Given the description of an element on the screen output the (x, y) to click on. 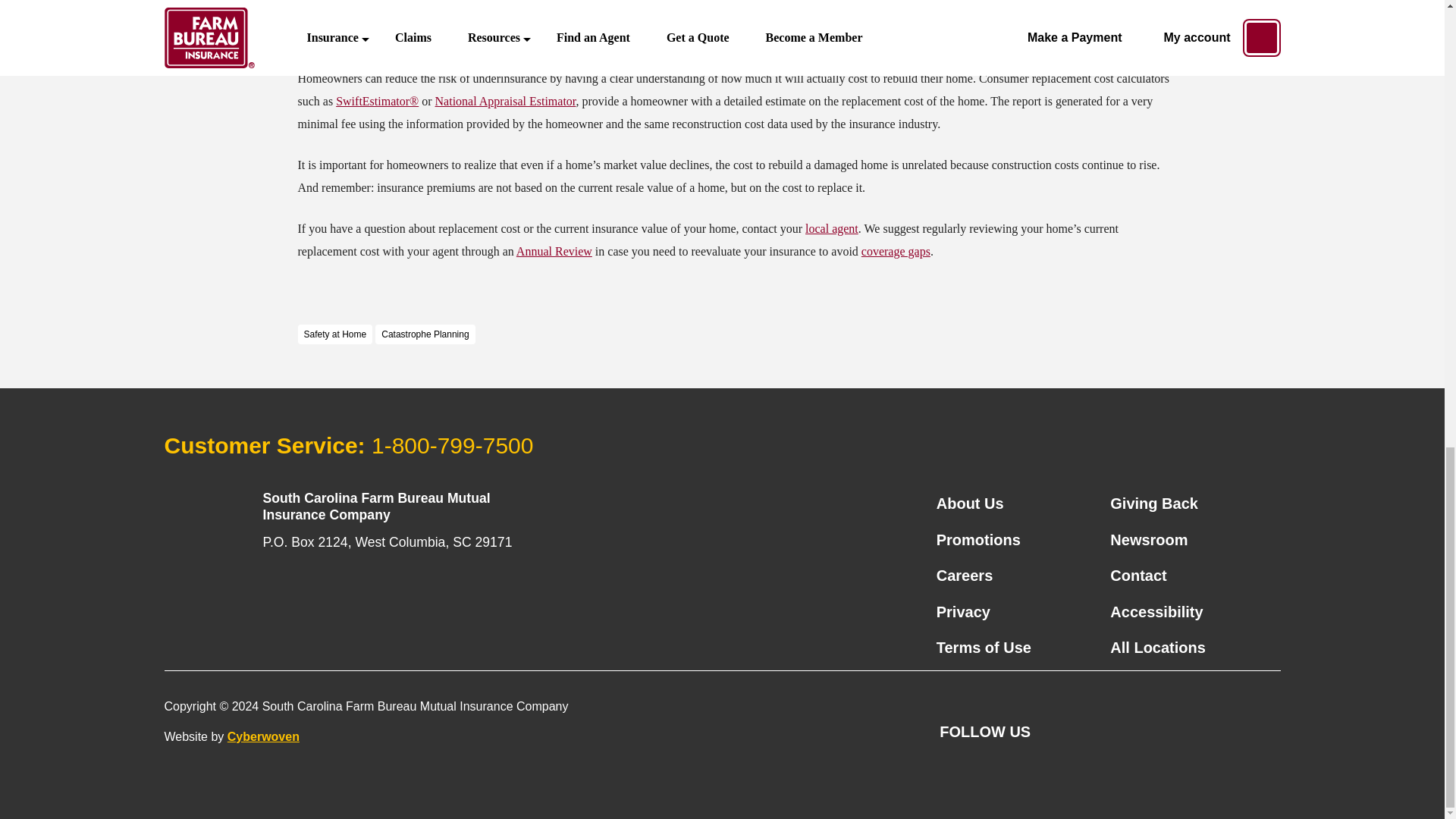
coverage gaps (895, 250)
Find agent (832, 228)
Swift Estimator (377, 101)
Annual Review (554, 250)
National Appraisal Estimator (505, 101)
